Given the description of an element on the screen output the (x, y) to click on. 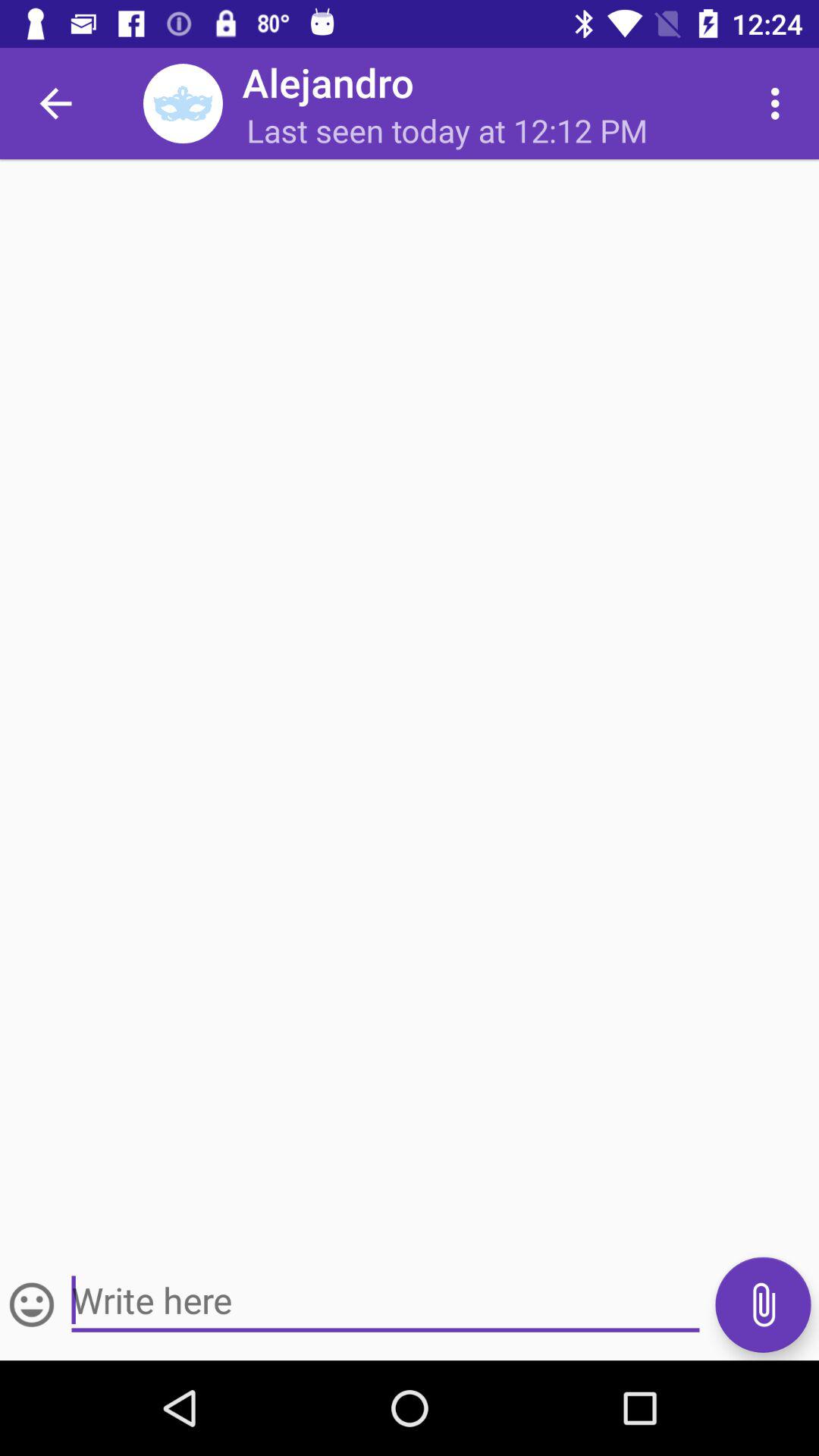
attach files (763, 1304)
